Given the description of an element on the screen output the (x, y) to click on. 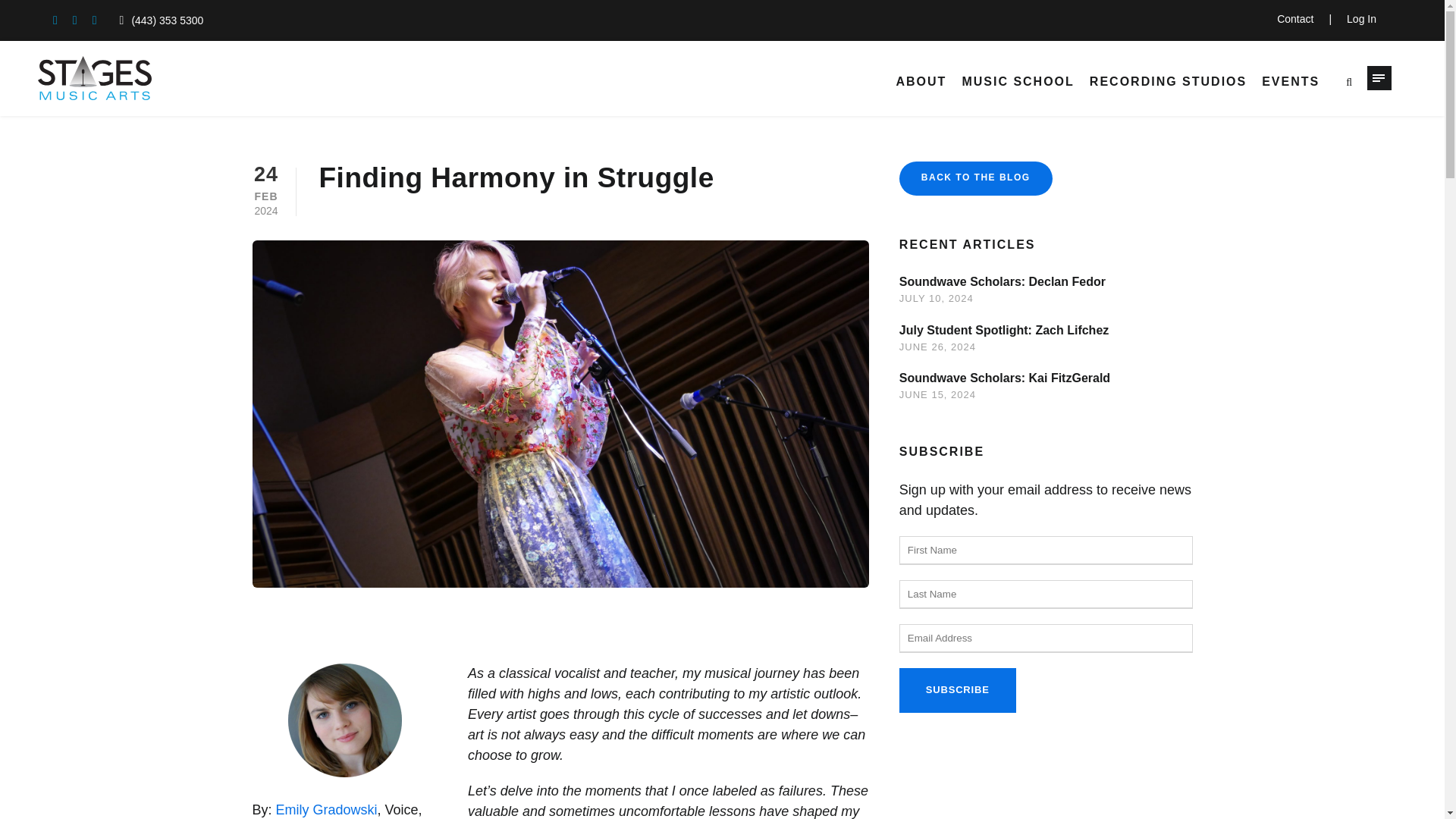
Subscribe (957, 690)
emily thumbnail (344, 720)
